Given the description of an element on the screen output the (x, y) to click on. 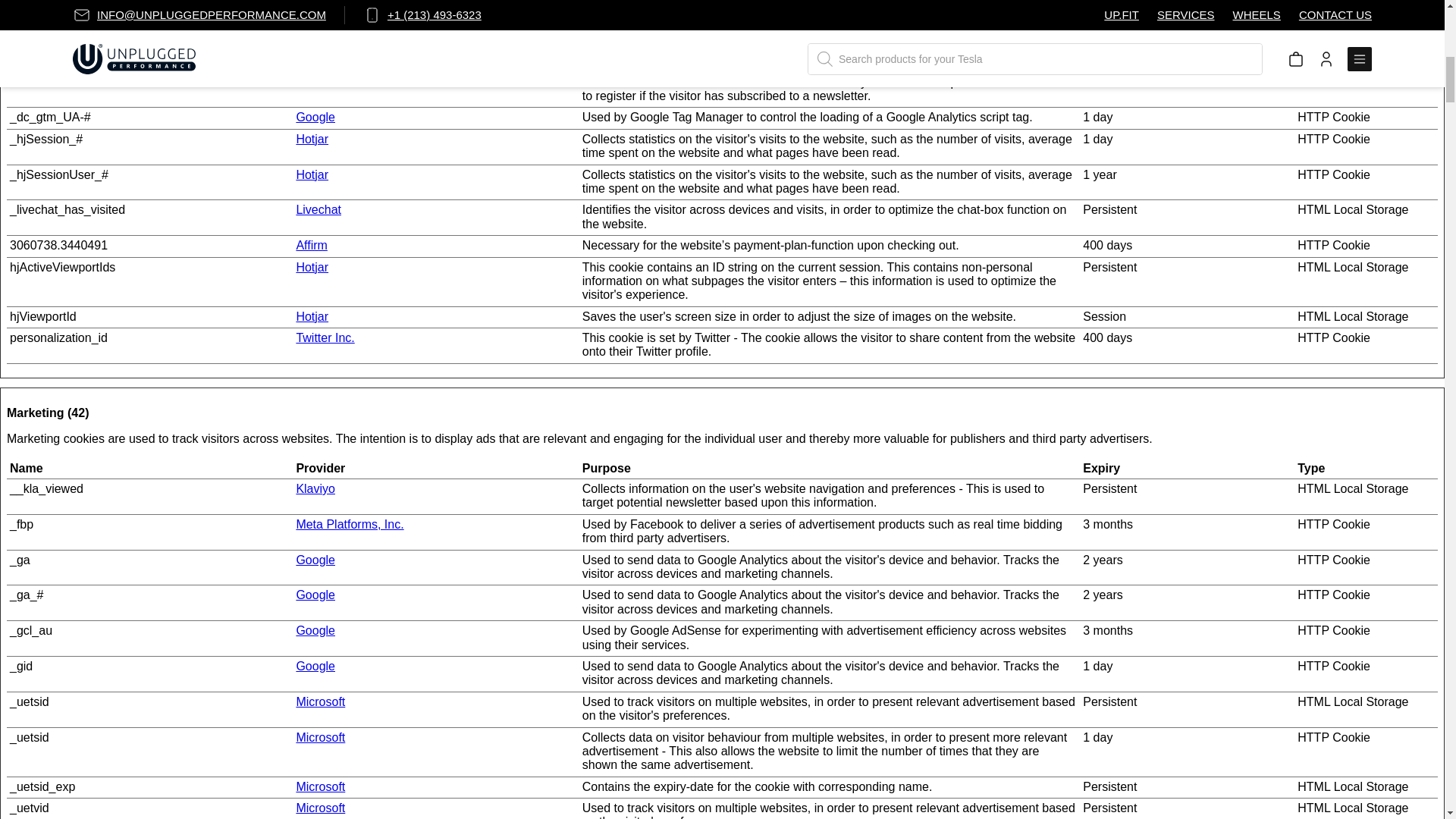
Livechat (317, 209)
Google (314, 666)
Microsoft (320, 737)
Google (314, 559)
Meta Platforms, Inc. (349, 523)
Microsoft (320, 807)
Google (314, 594)
Hotjar (312, 316)
Microsoft (320, 786)
Google (314, 116)
